Given the description of an element on the screen output the (x, y) to click on. 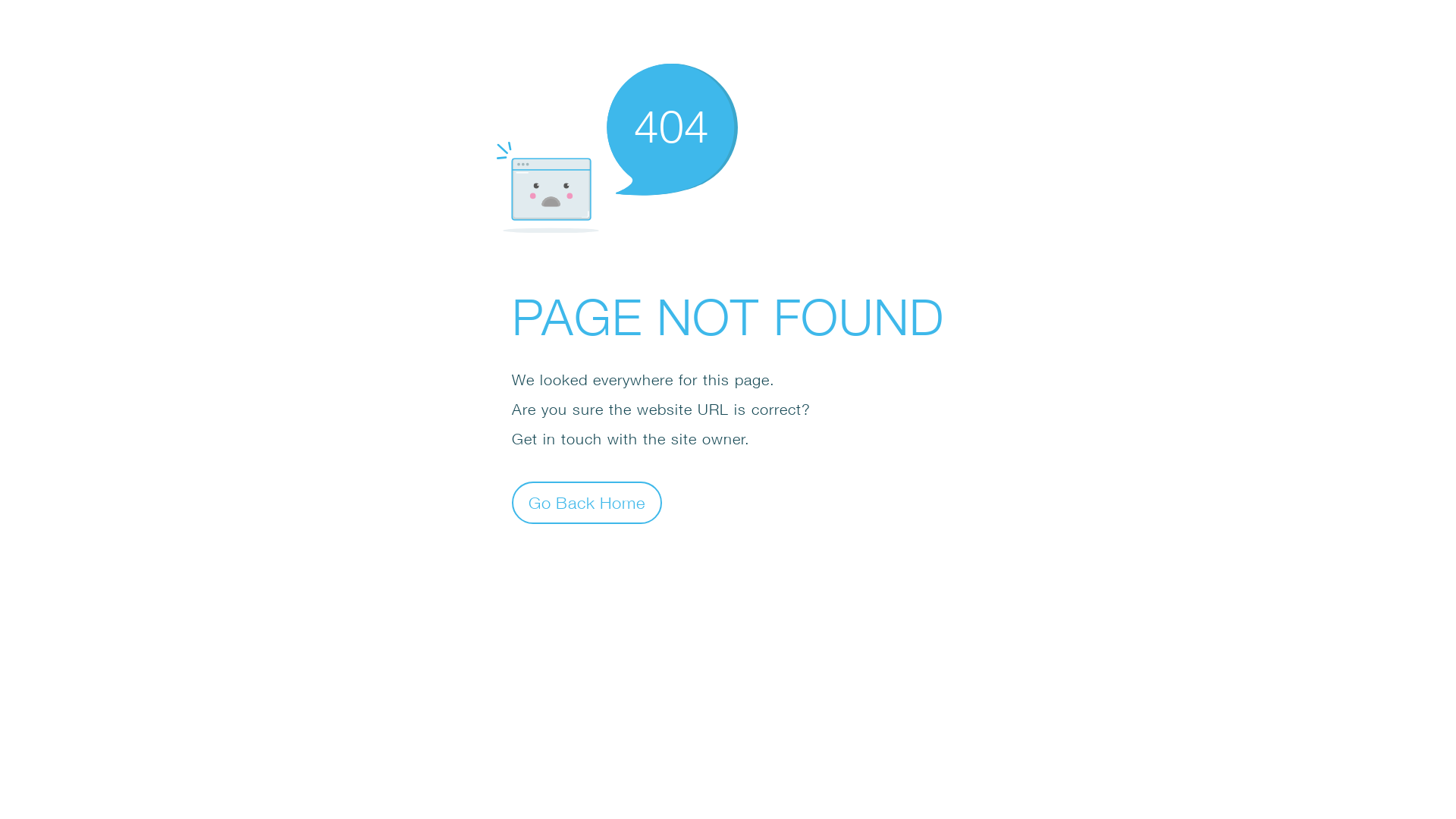
Go Back Home Element type: text (586, 502)
